Given the description of an element on the screen output the (x, y) to click on. 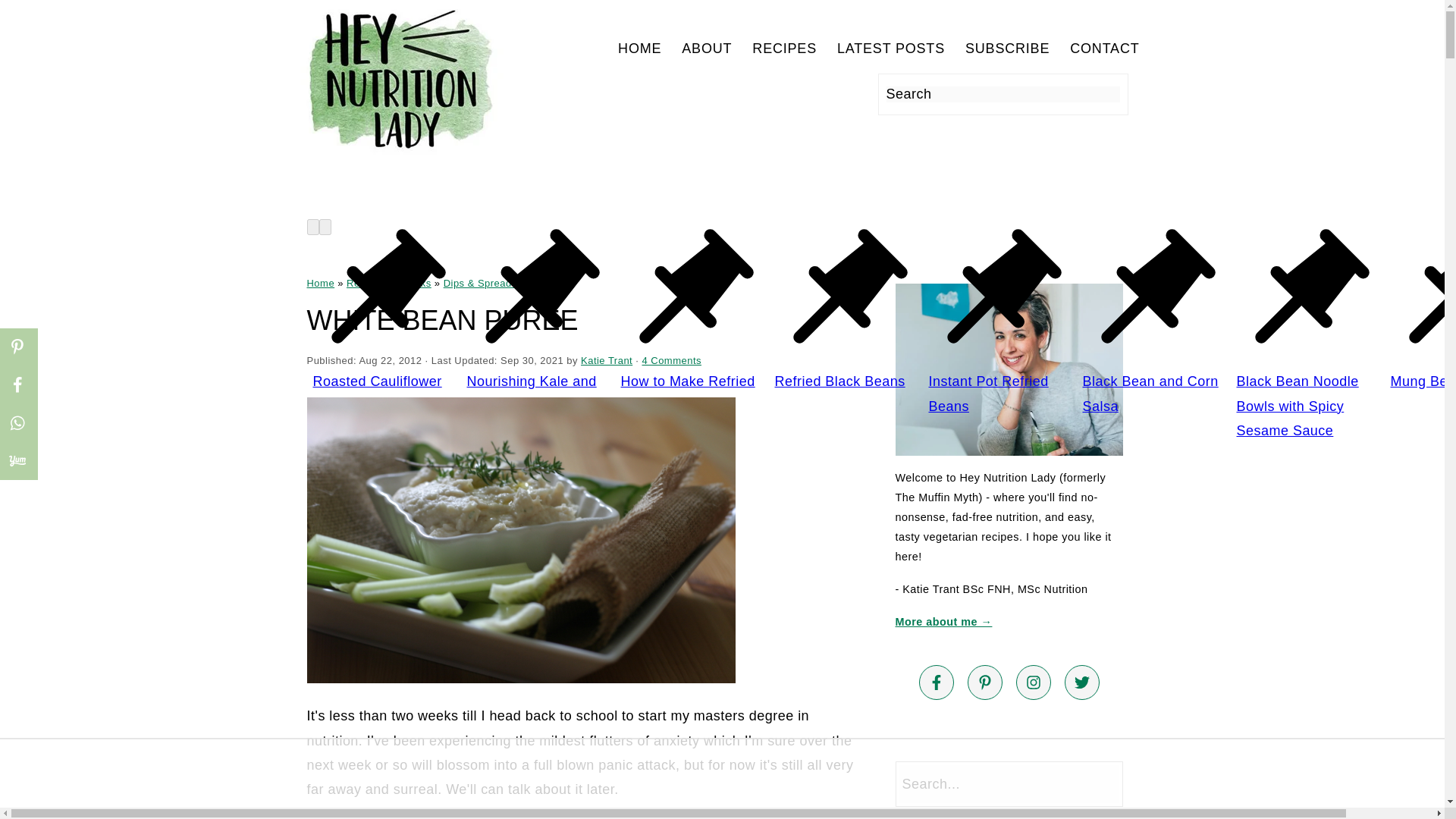
white-bean-puree-with-thyme (520, 540)
Snacks (413, 283)
Recipes (365, 283)
Hey Nutrition Lady (400, 152)
Hey Nutrition Lady (400, 81)
HOME (639, 48)
Share on Yummly (18, 460)
Share on Facebook (18, 384)
Katie Trant (605, 360)
RECIPES (784, 48)
